Given the description of an element on the screen output the (x, y) to click on. 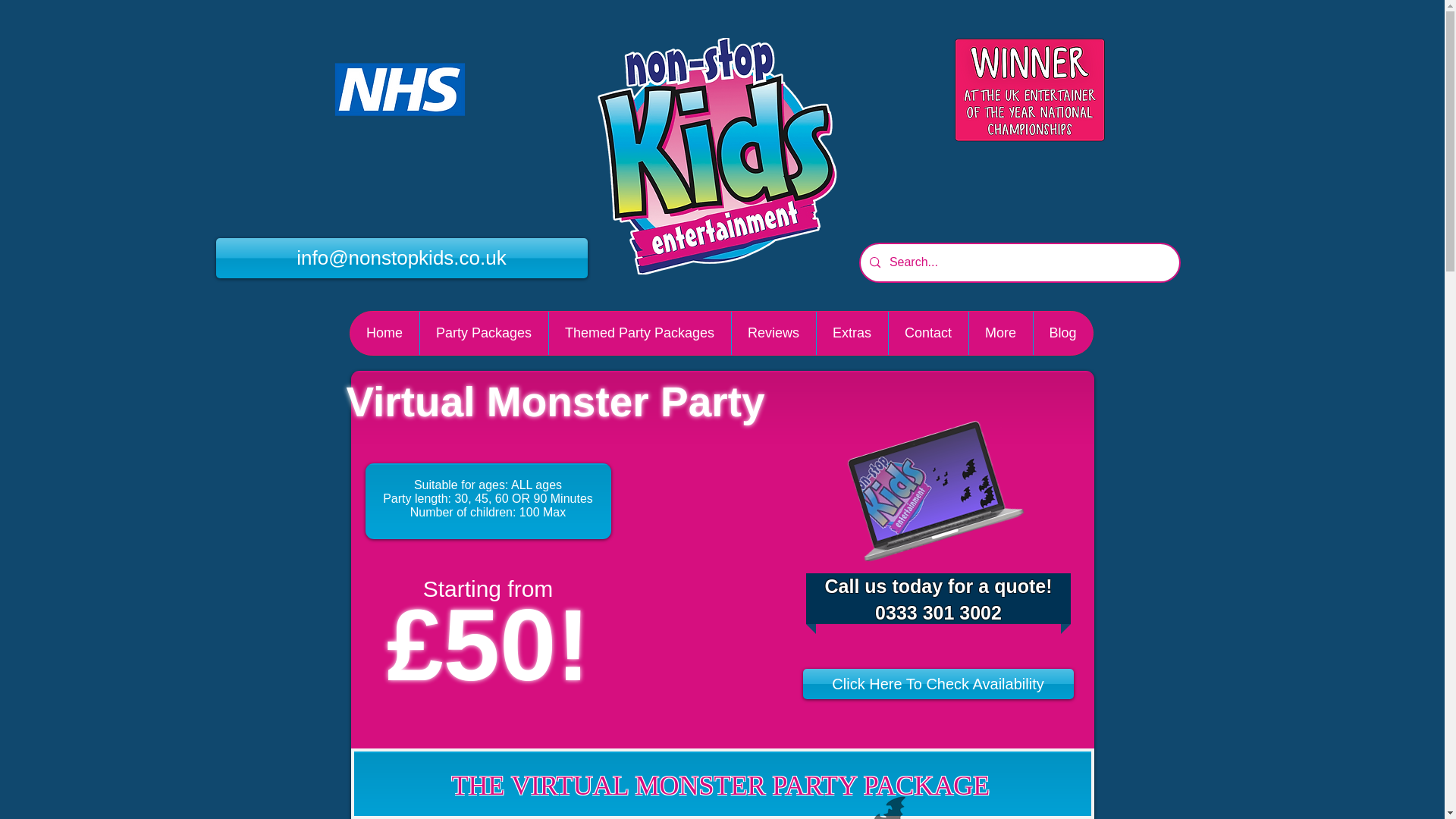
0333 301 3002 (938, 612)
Contact (927, 333)
Click Here To Check Availability (937, 684)
Extras (851, 333)
Party Packages (483, 333)
Reviews (772, 333)
Home (384, 333)
Themed Party Packages (638, 333)
Blog (1062, 333)
Non Stop Kids Entertainment (716, 155)
